Given the description of an element on the screen output the (x, y) to click on. 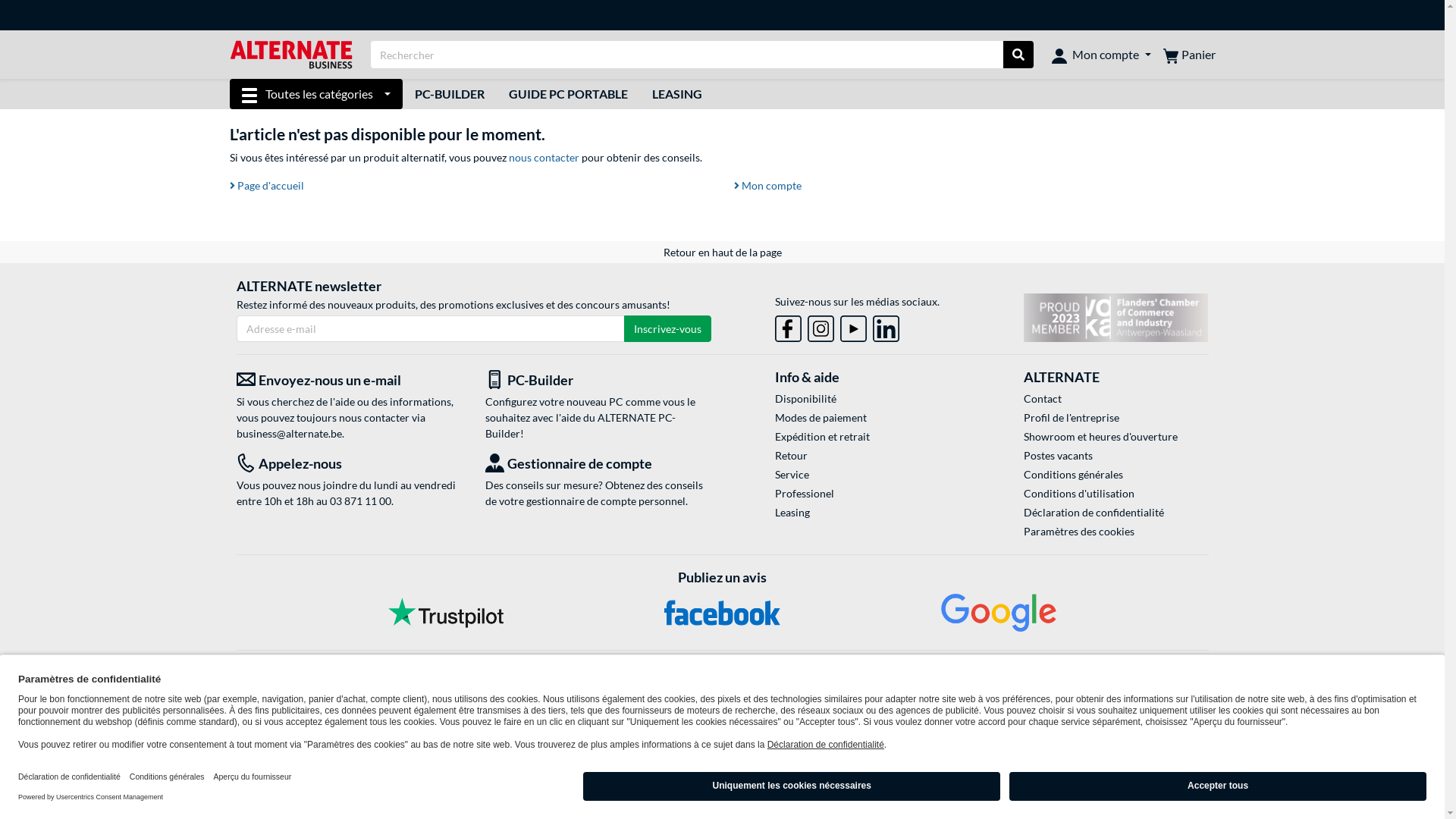
PC-BUILDER Element type: text (449, 93)
Trustpilot Element type: hover (445, 612)
business@alternate.be Element type: text (289, 432)
Inscrivez-vous Element type: text (666, 328)
Retour en haut de la page Element type: text (721, 251)
Modes de paiement Element type: text (867, 417)
Gestionnaire de compte Element type: text (598, 463)
Leasing Element type: text (867, 512)
Postes vacants Element type: text (1115, 455)
YouTube Element type: hover (853, 325)
Linkedin Element type: hover (885, 328)
nous contacter Element type: text (543, 156)
Voka Element type: hover (1115, 317)
Retour Element type: text (867, 455)
GUIDE PC PORTABLE Element type: text (568, 93)
checksoft404 Element type: hover (229, 202)
Mon compte Element type: text (767, 184)
Panier Element type: text (1189, 54)
Rechercher Element type: hover (1018, 54)
Instagram Element type: hover (820, 325)
YouTube Element type: hover (853, 328)
03 871 11 00 Element type: text (359, 500)
Linkedin Element type: hover (885, 325)
Facebook Element type: hover (788, 325)
Professionel Element type: text (867, 493)
PC-Builder Element type: text (598, 380)
Envoyez-nous un e-mail Element type: text (349, 380)
Mon compte Element type: text (1100, 54)
LEASING Element type: text (677, 93)
Conditions d'utilisation Element type: text (1115, 493)
Facebook Element type: hover (721, 611)
Facebook Element type: hover (788, 328)
Profil de l'entreprise Element type: text (1115, 417)
Service Element type: text (867, 474)
Appelez-nous Element type: text (349, 463)
Showroom et heures d'ouverture Element type: text (1115, 436)
Contact Element type: text (1115, 398)
Instagram Element type: hover (820, 328)
Google Element type: hover (998, 611)
Page d'accueil Element type: text (266, 184)
